Given the description of an element on the screen output the (x, y) to click on. 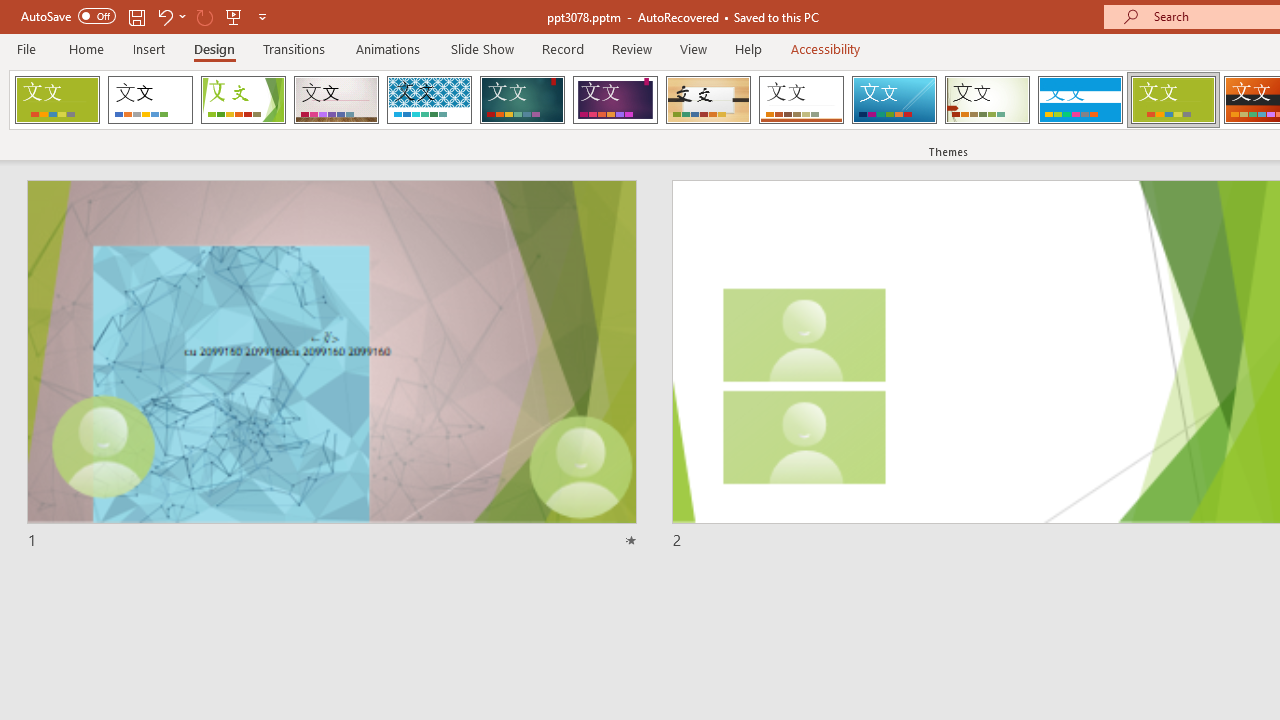
Integral (429, 100)
Retrospect (801, 100)
Ion (522, 100)
Office Theme (150, 100)
Organic (708, 100)
